Given the description of an element on the screen output the (x, y) to click on. 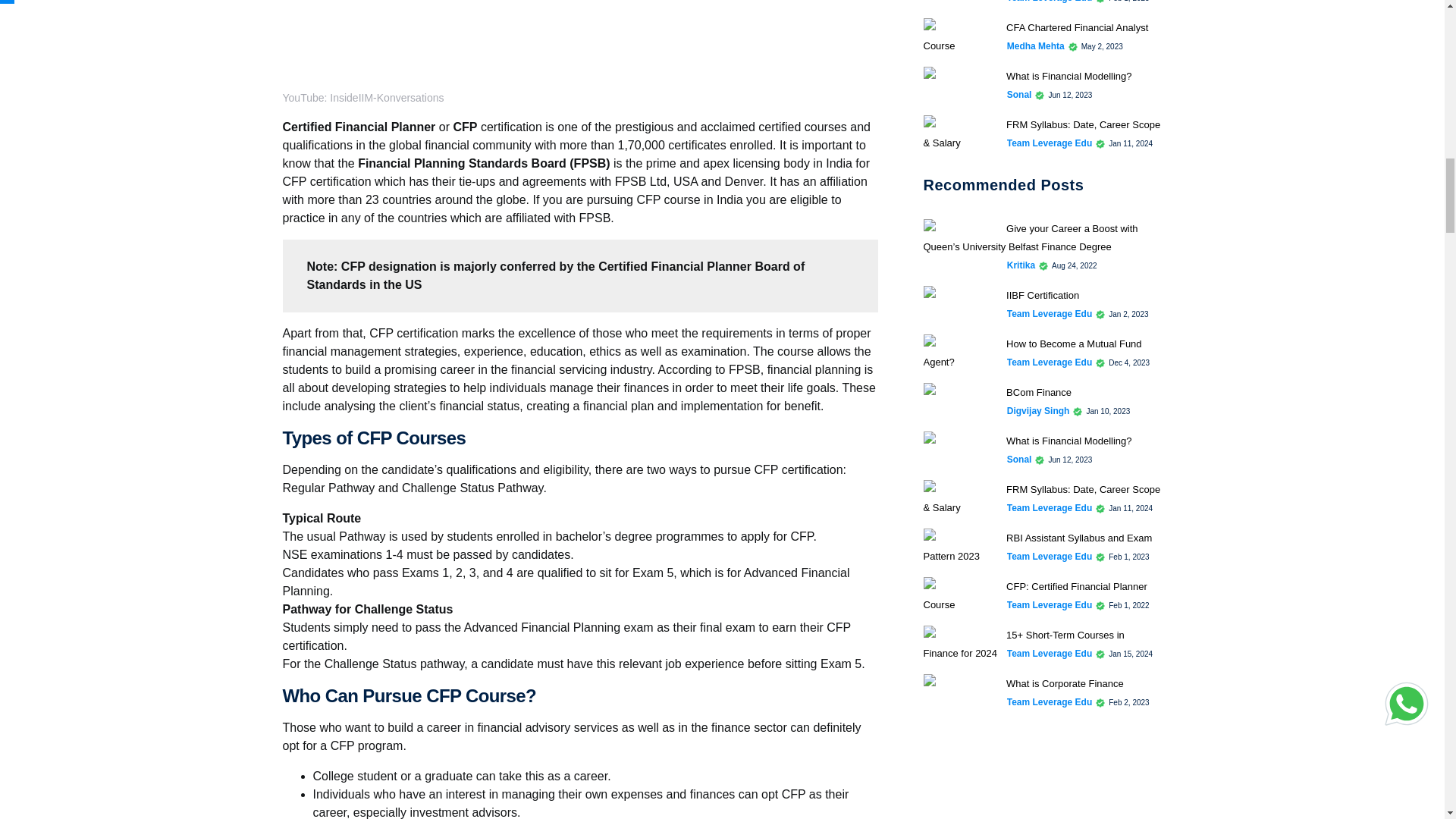
View all posts by Team Leverage Edu (1050, 142)
View all posts by Team Leverage Edu (1050, 2)
View all posts by Medha Mehta (1035, 46)
View all posts by Kritika (1021, 264)
View all posts by Team Leverage Edu (1050, 314)
View all posts by Team Leverage Edu (1050, 362)
View all posts by Sonal (1019, 94)
